Given the description of an element on the screen output the (x, y) to click on. 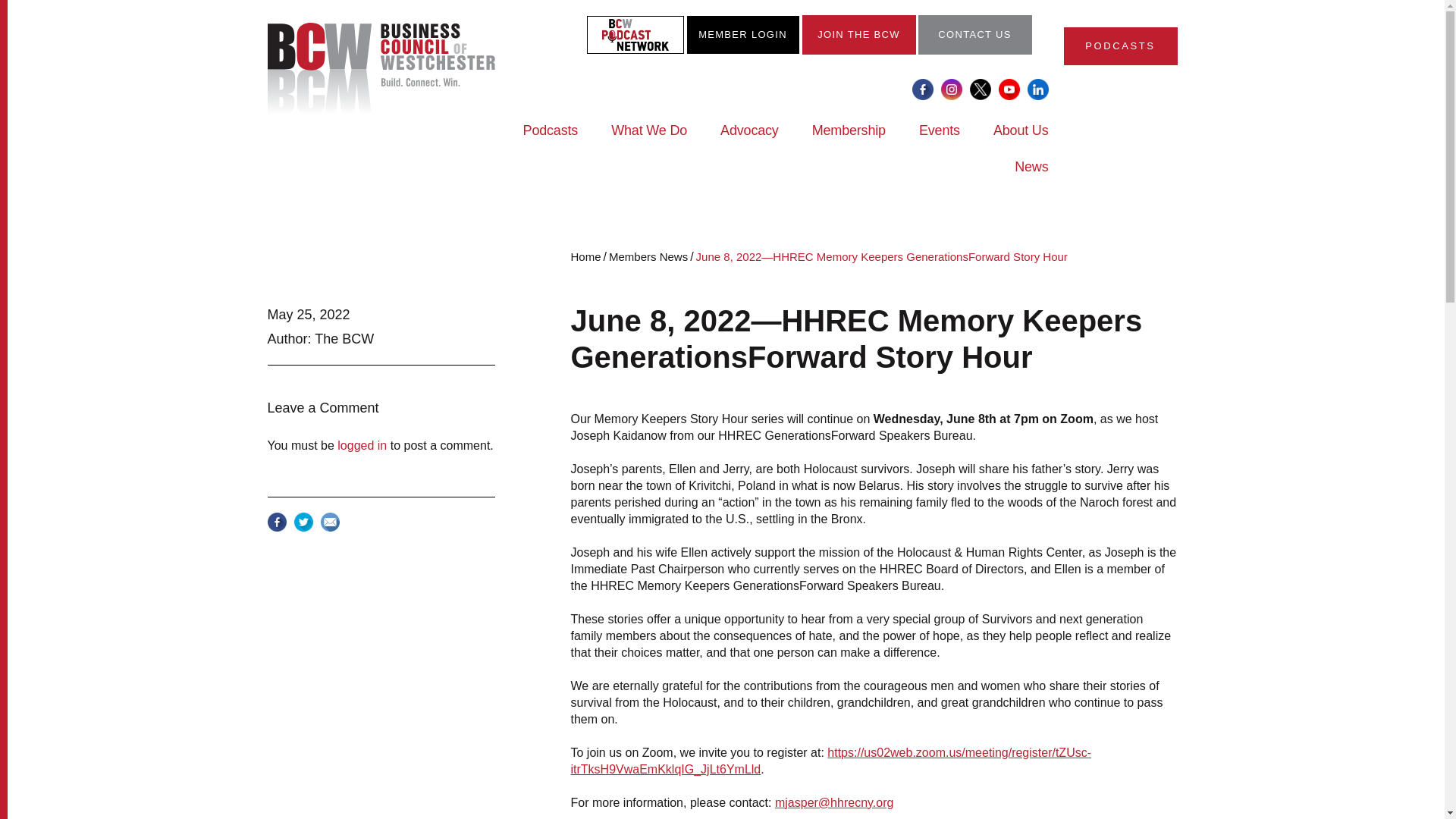
What We Do (649, 139)
Go to Members News. (648, 256)
Podcasts (550, 139)
Go to Business Council of Westchester. (586, 256)
Advocacy (749, 139)
Membership (848, 139)
